Given the description of an element on the screen output the (x, y) to click on. 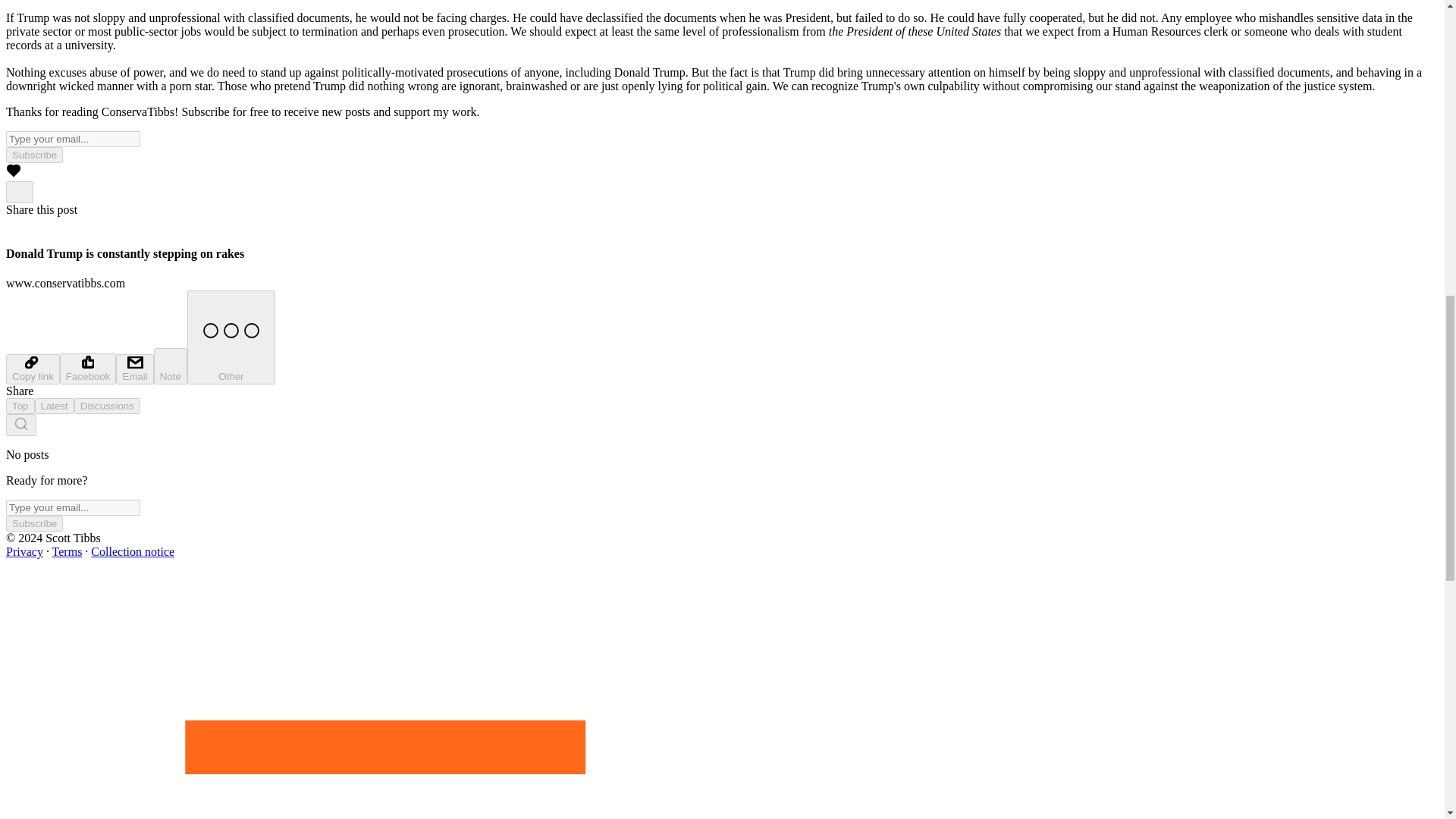
Email (134, 368)
Top (19, 406)
Discussions (106, 406)
Facebook (87, 368)
Copy link (32, 368)
Note (170, 366)
Subscribe (33, 154)
Subscribe (33, 523)
Latest (54, 406)
Other (231, 337)
Terms (67, 551)
Privacy (24, 551)
